Given the description of an element on the screen output the (x, y) to click on. 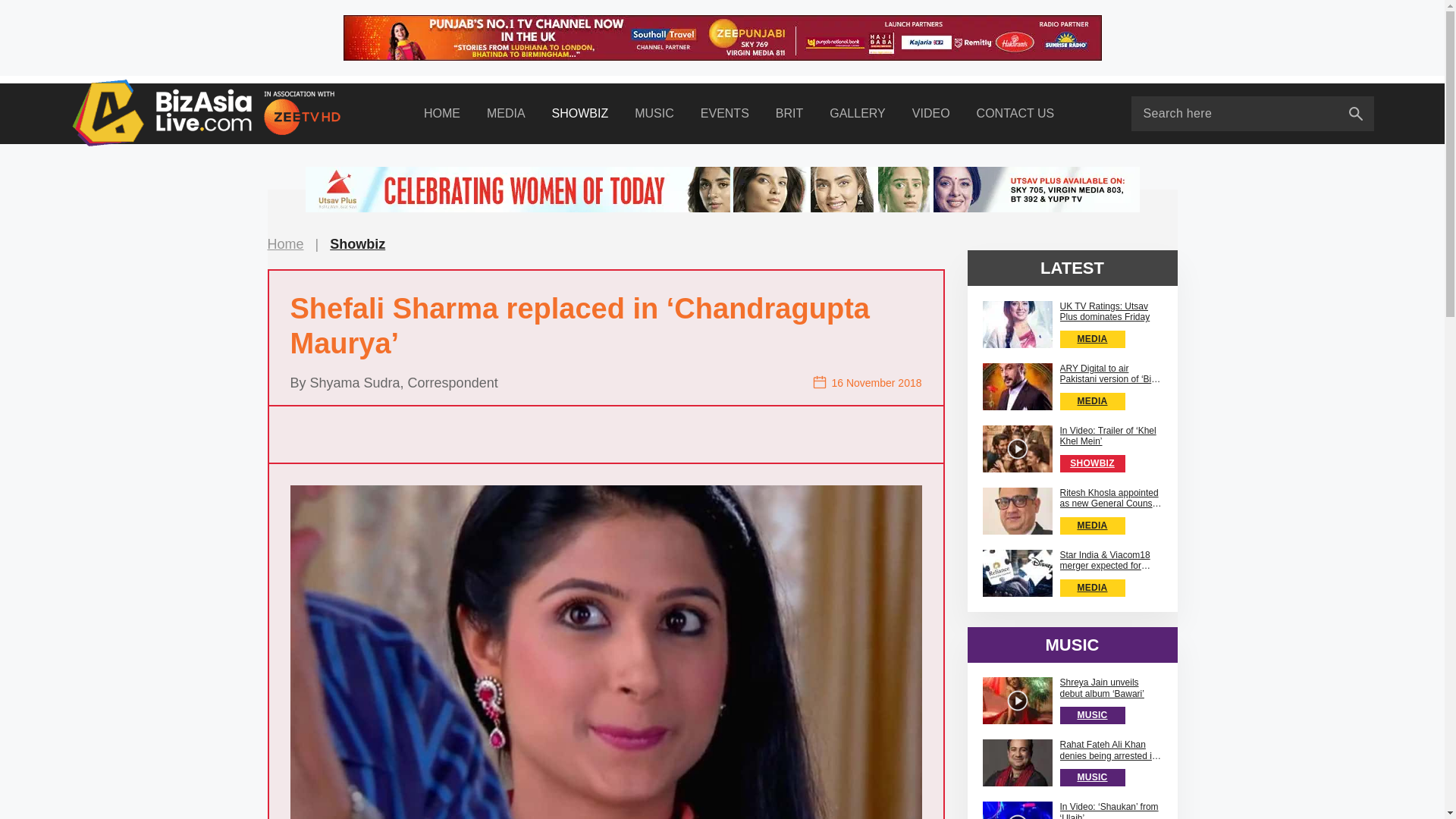
MEDIA (505, 113)
MUSIC (654, 113)
EVENTS (724, 113)
GALLERY (857, 113)
Top header Banner (721, 37)
HOME (441, 113)
SHOWBIZ (579, 113)
